Given the description of an element on the screen output the (x, y) to click on. 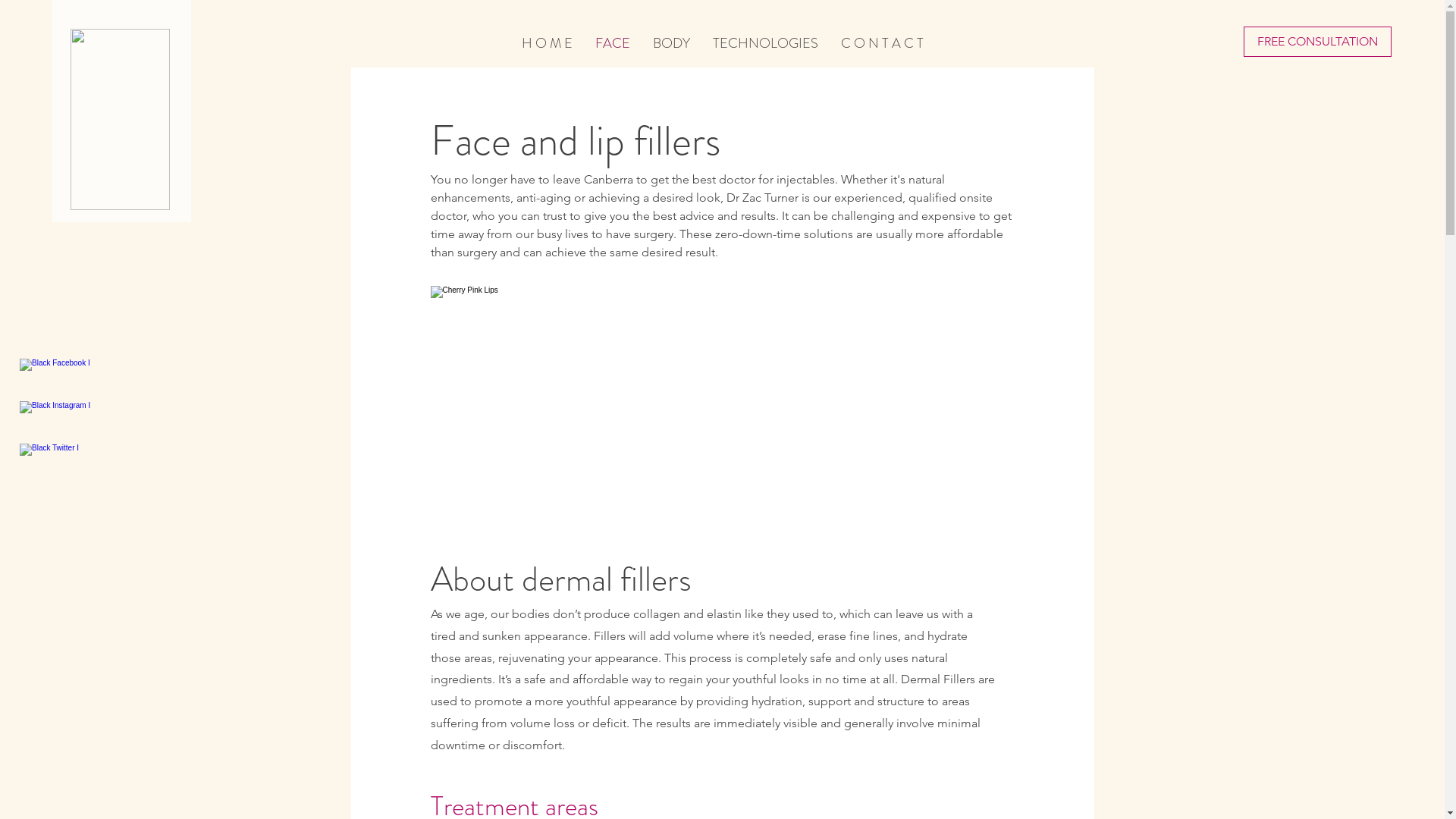
TECHNOLOGIES Element type: text (764, 41)
BODY Element type: text (671, 41)
FREE CONSULTATION Element type: text (1317, 41)
C O N T A C T Element type: text (882, 41)
H O M E Element type: text (546, 41)
FACE Element type: text (612, 41)
